Given the description of an element on the screen output the (x, y) to click on. 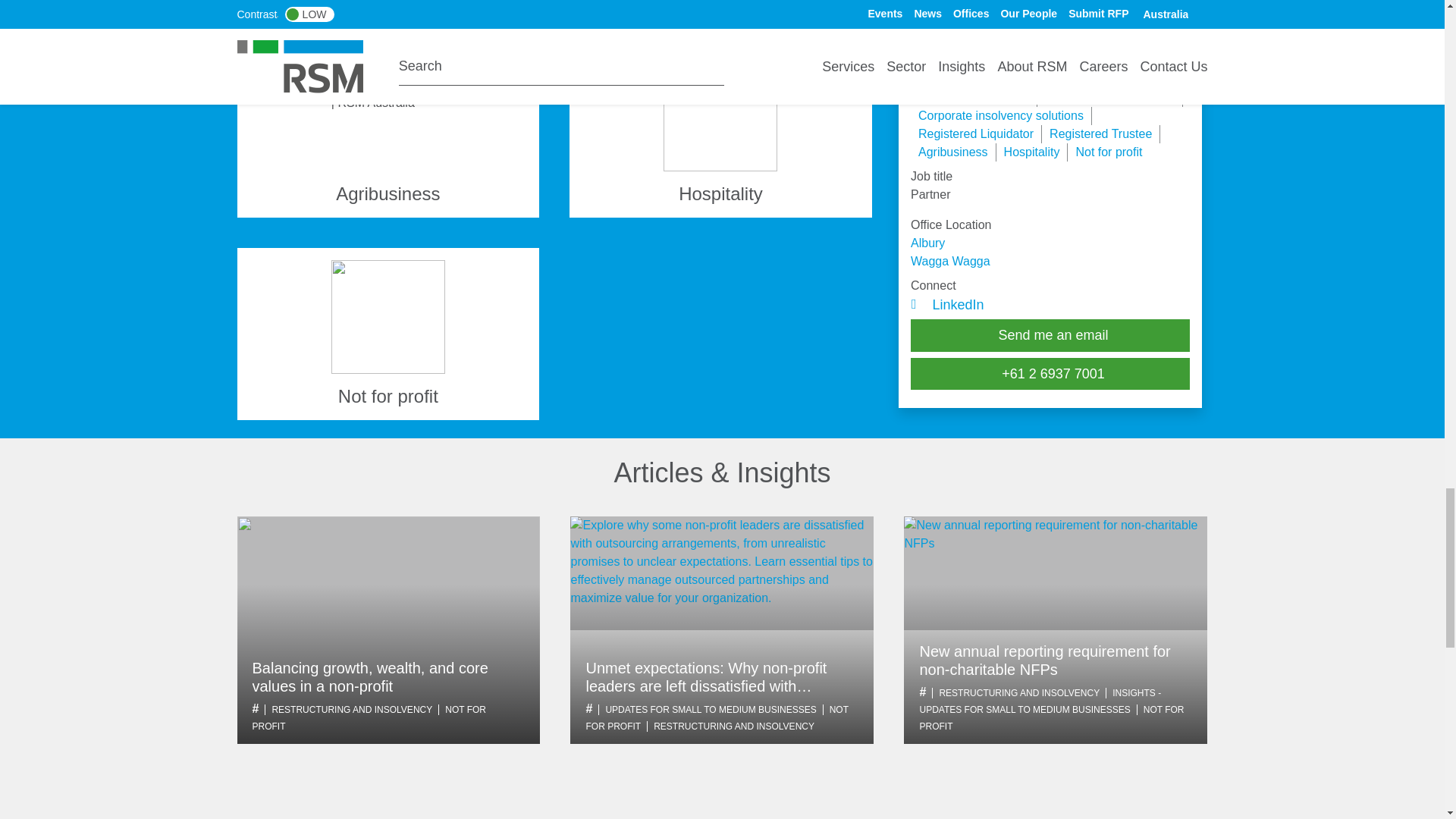
New annual reporting requirement for non-charitable NFPs (1055, 572)
